Given the description of an element on the screen output the (x, y) to click on. 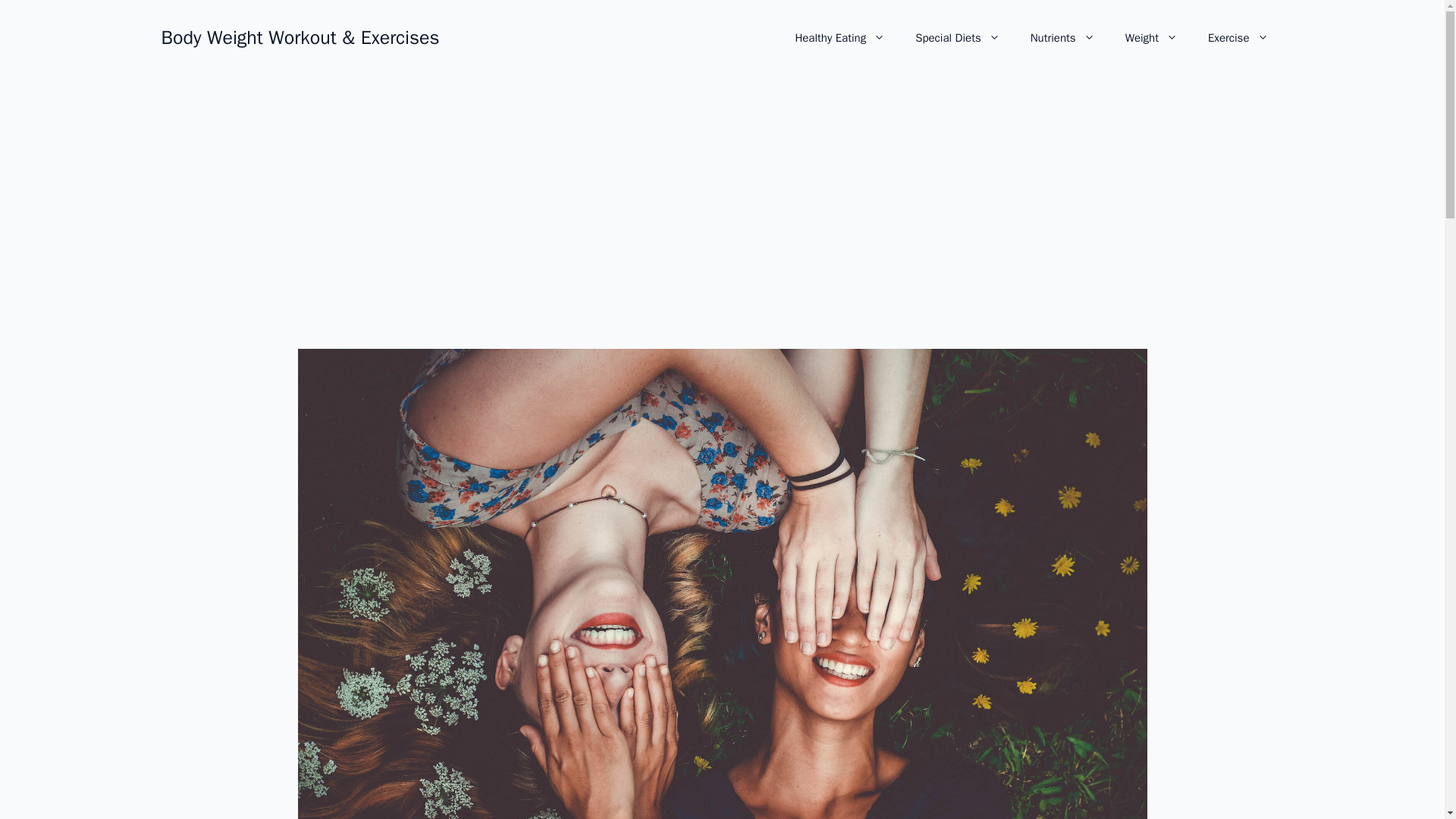
Exercise (1238, 37)
Healthy Eating (838, 37)
Nutrients (1061, 37)
Weight (1150, 37)
Special Diets (956, 37)
